Given the description of an element on the screen output the (x, y) to click on. 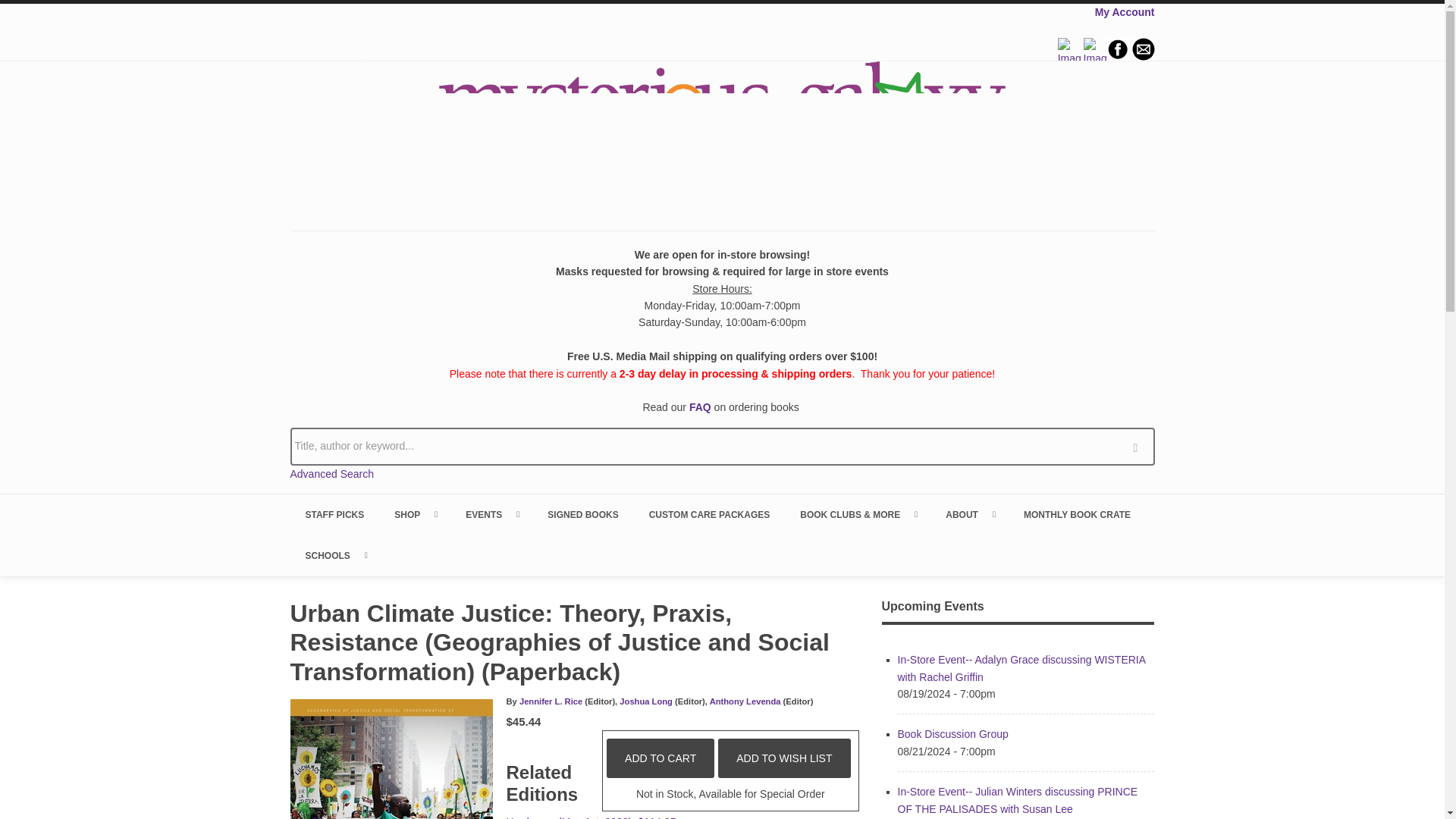
Add to Cart (660, 758)
STAFF PICKS (333, 514)
Home (722, 134)
FAQ (699, 407)
Advanced Search (331, 473)
Title, author or keyword... (721, 446)
EVENTS (490, 514)
SHOP (413, 514)
Add to Wish List (783, 758)
